Given the description of an element on the screen output the (x, y) to click on. 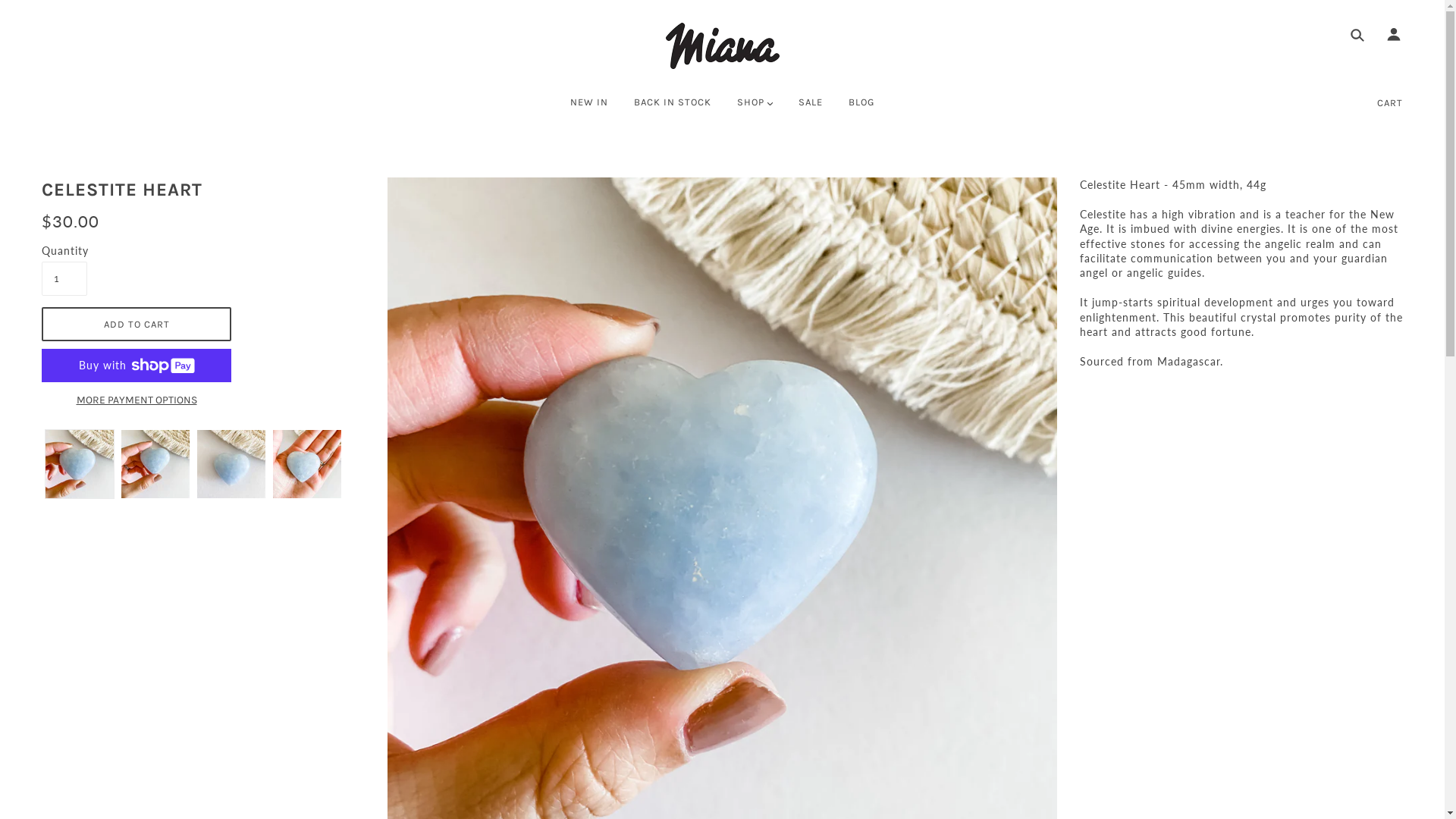
Miana Jewels Element type: hover (722, 45)
BACK IN STOCK Element type: text (672, 107)
BLOG Element type: text (861, 107)
CART Element type: text (1389, 102)
SALE Element type: text (810, 107)
MORE PAYMENT OPTIONS Element type: text (136, 399)
NEW IN Element type: text (588, 107)
SHOP Element type: text (754, 107)
Add to Cart Element type: text (136, 324)
